Given the description of an element on the screen output the (x, y) to click on. 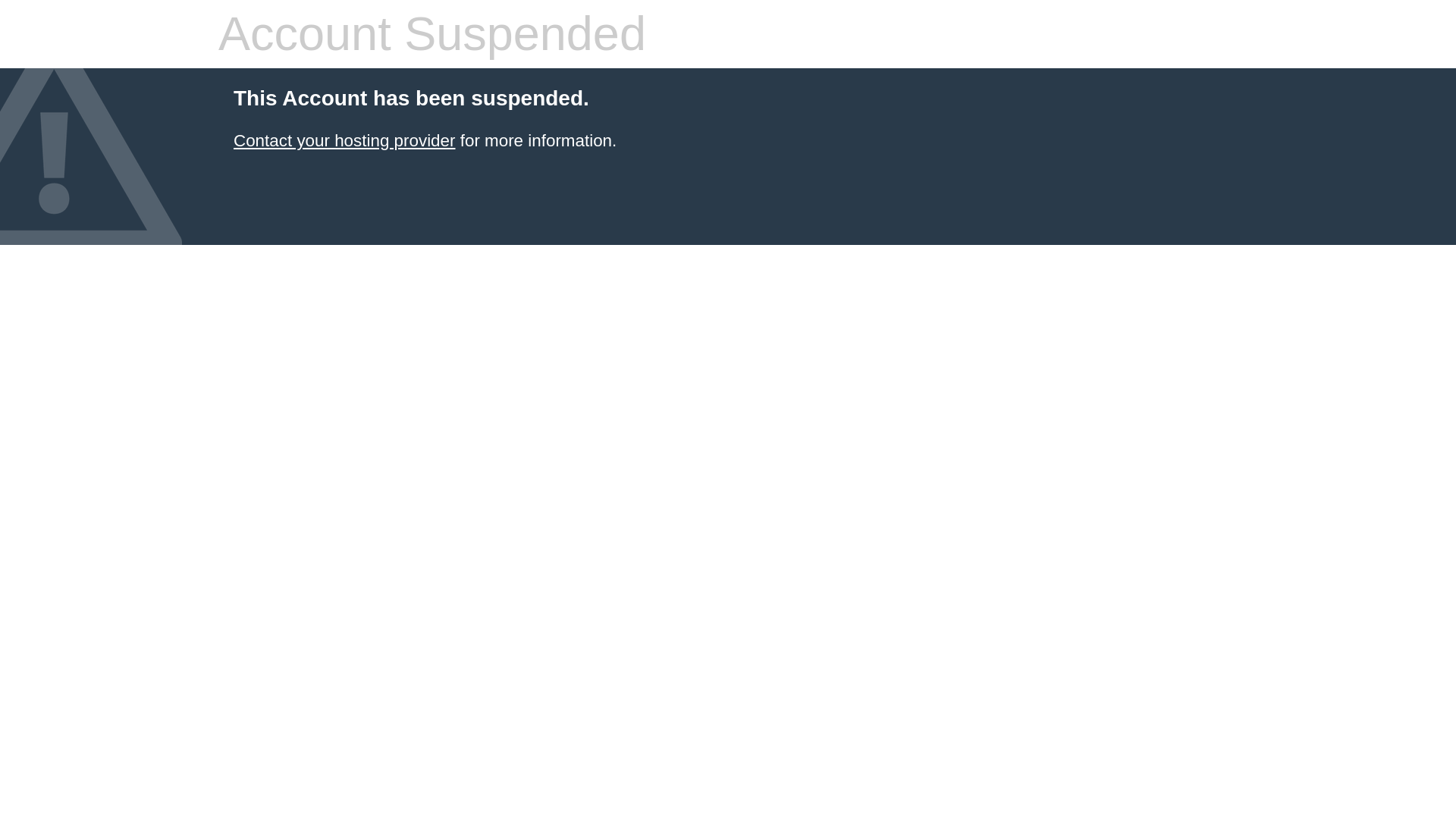
Contact your hosting provider (343, 140)
